Given the description of an element on the screen output the (x, y) to click on. 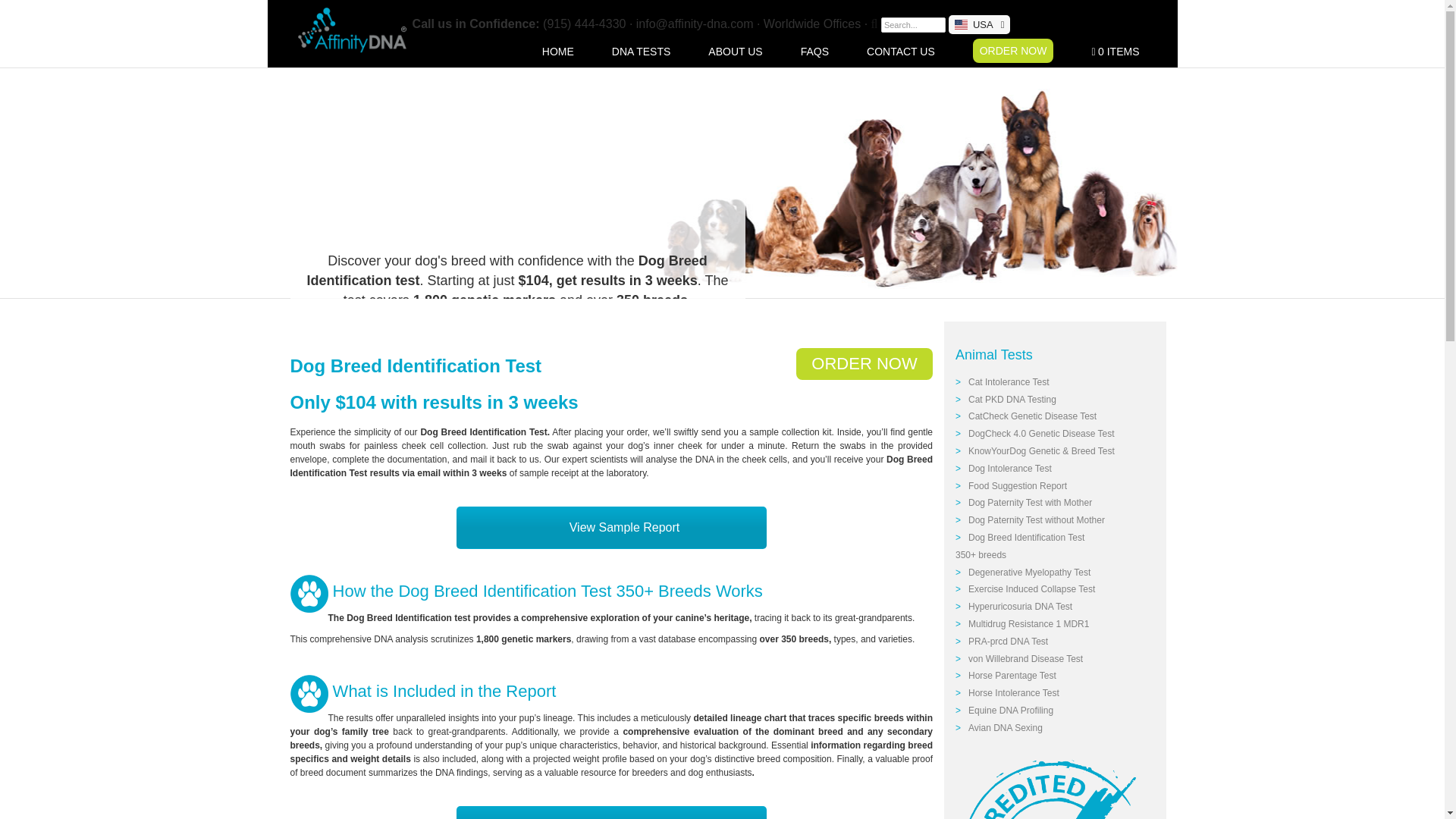
DNA TESTS (622, 50)
AffinityDNA Animal Icon Cat Intolerance Test (308, 693)
Start shopping (1095, 51)
HOME (538, 50)
AffinityDNA Animal Icon Cat Intolerance Test (308, 593)
Worldwide Offices (811, 23)
